Given the description of an element on the screen output the (x, y) to click on. 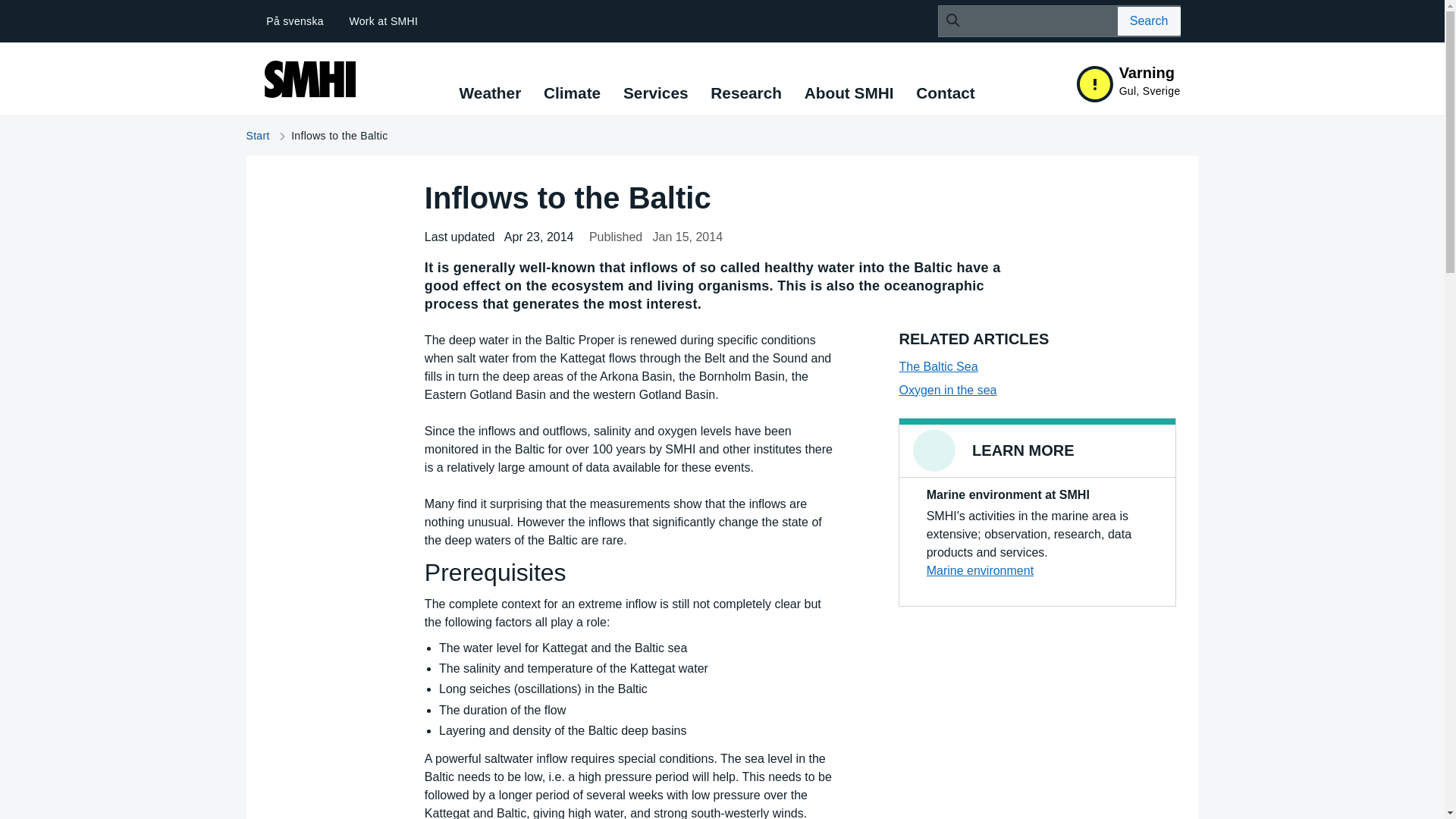
Search (1149, 21)
Work at SMHI (383, 21)
